Given the description of an element on the screen output the (x, y) to click on. 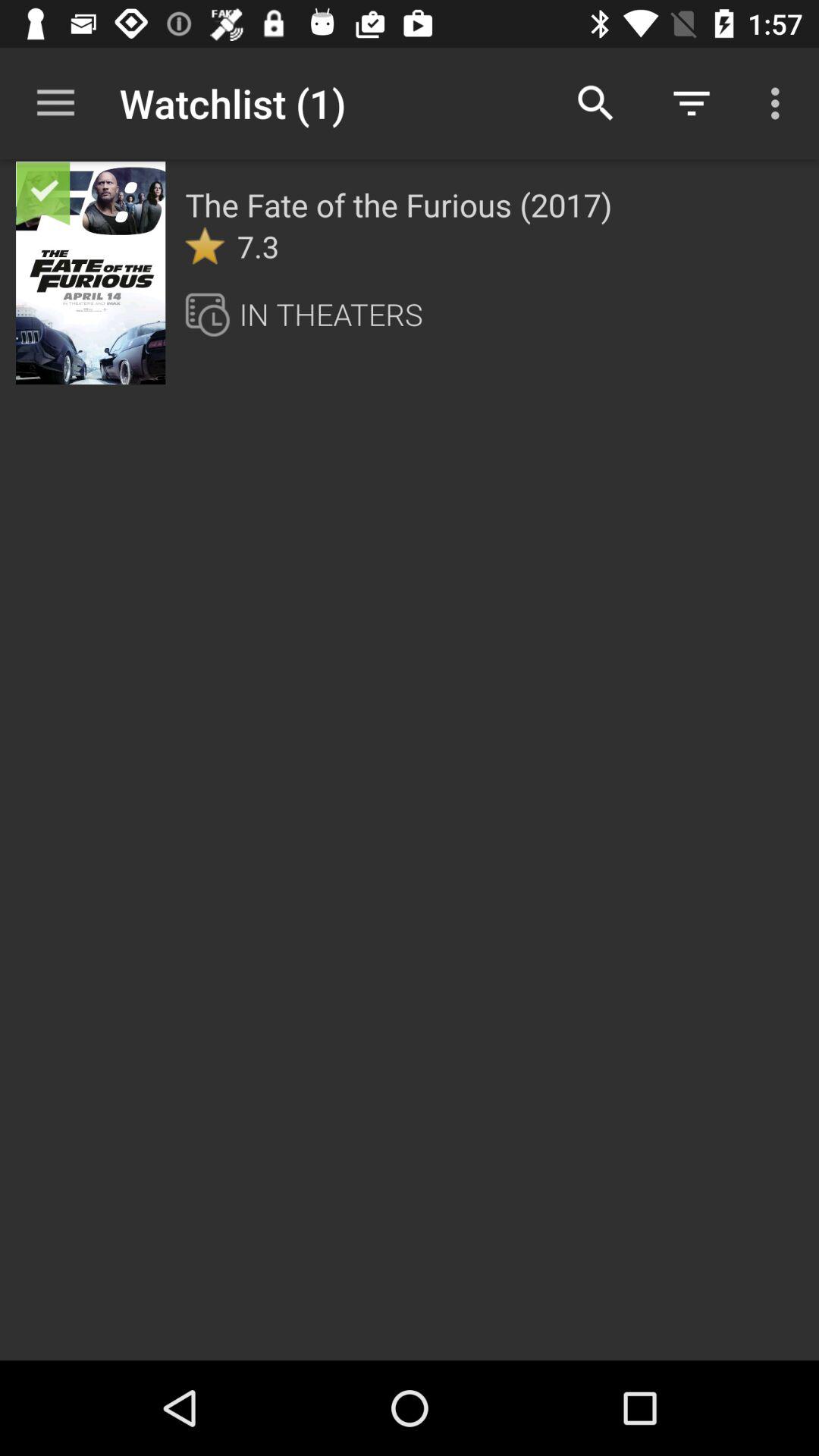
turn off icon below the 7.3 item (212, 314)
